Given the description of an element on the screen output the (x, y) to click on. 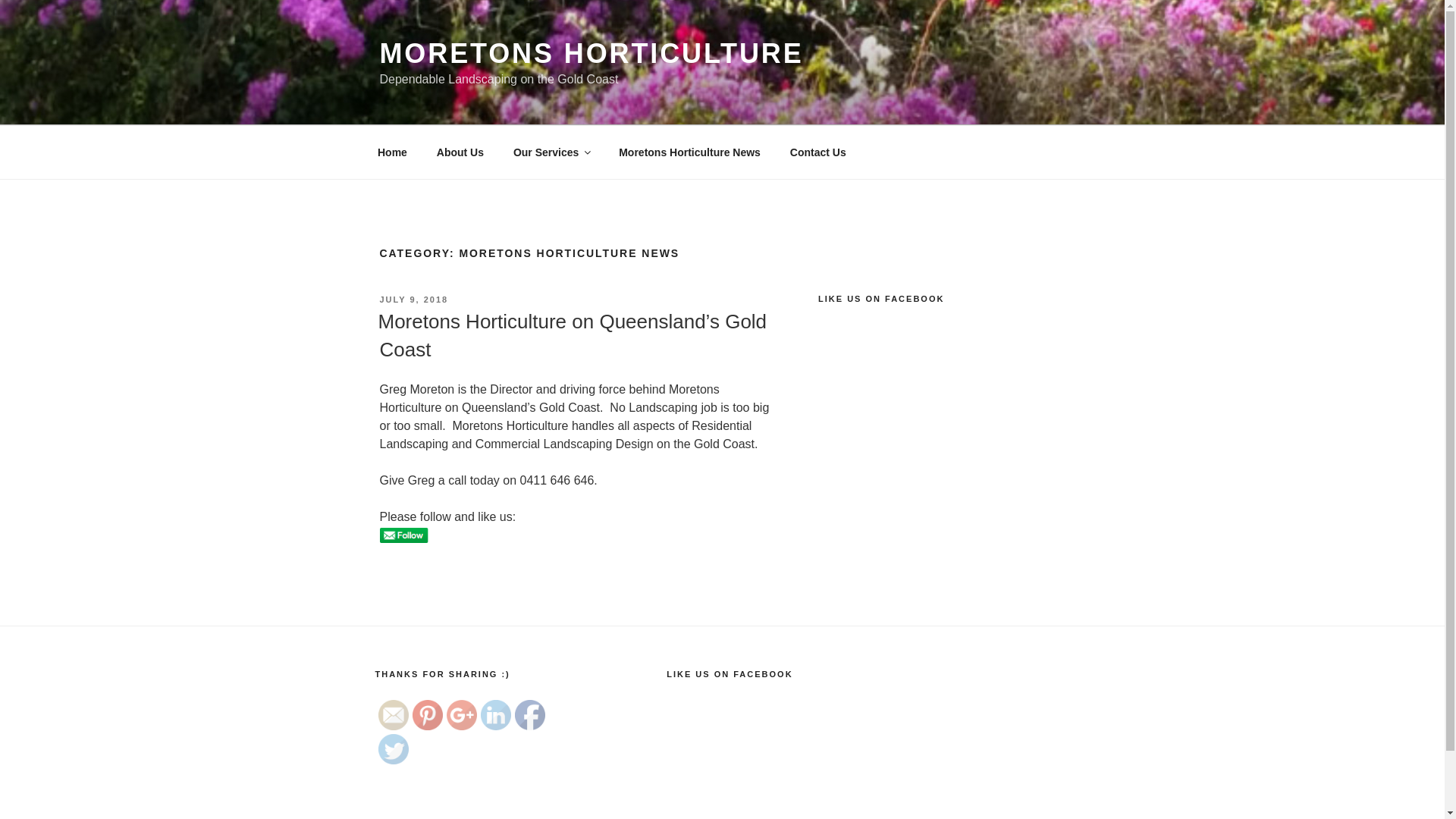
Follow by Email Element type: hover (392, 714)
Home Element type: text (392, 151)
Google+ Element type: hover (460, 714)
Moretons Horticulture News Element type: text (689, 151)
Facebook Element type: hover (529, 714)
About Us Element type: text (459, 151)
Our Services Element type: text (550, 151)
Skip to content Element type: text (0, 0)
MORETONS HORTICULTURE Element type: text (591, 53)
Twitter Element type: hover (392, 749)
Pinterest Element type: hover (427, 714)
LinkedIn Element type: hover (495, 714)
JULY 9, 2018 Element type: text (413, 299)
Contact Us Element type: text (817, 151)
